Given the description of an element on the screen output the (x, y) to click on. 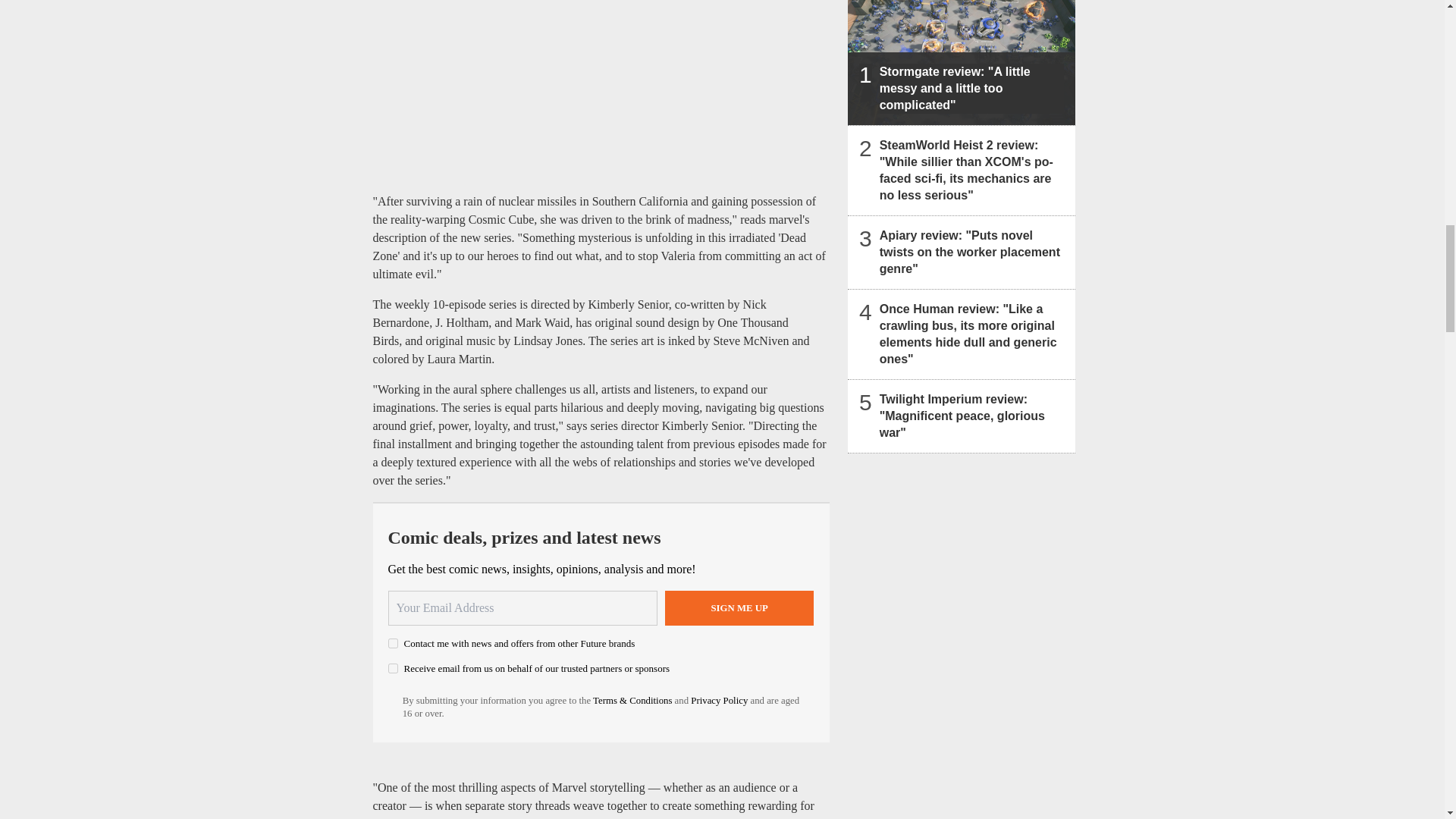
on (392, 643)
on (392, 668)
Sign me up (739, 607)
